Given the description of an element on the screen output the (x, y) to click on. 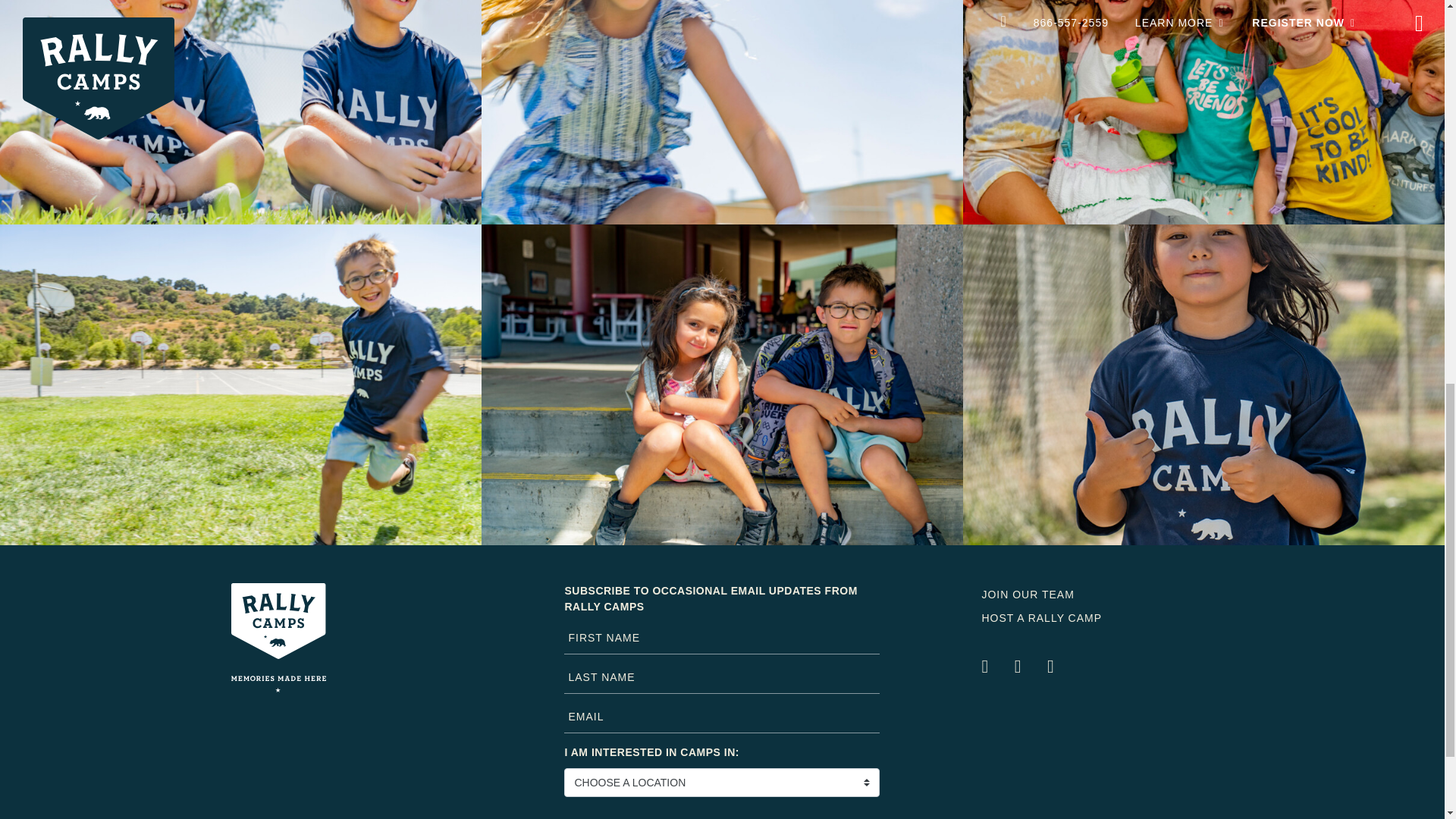
HOST A RALLY CAMP (1041, 617)
JOIN OUR TEAM (1027, 594)
